Given the description of an element on the screen output the (x, y) to click on. 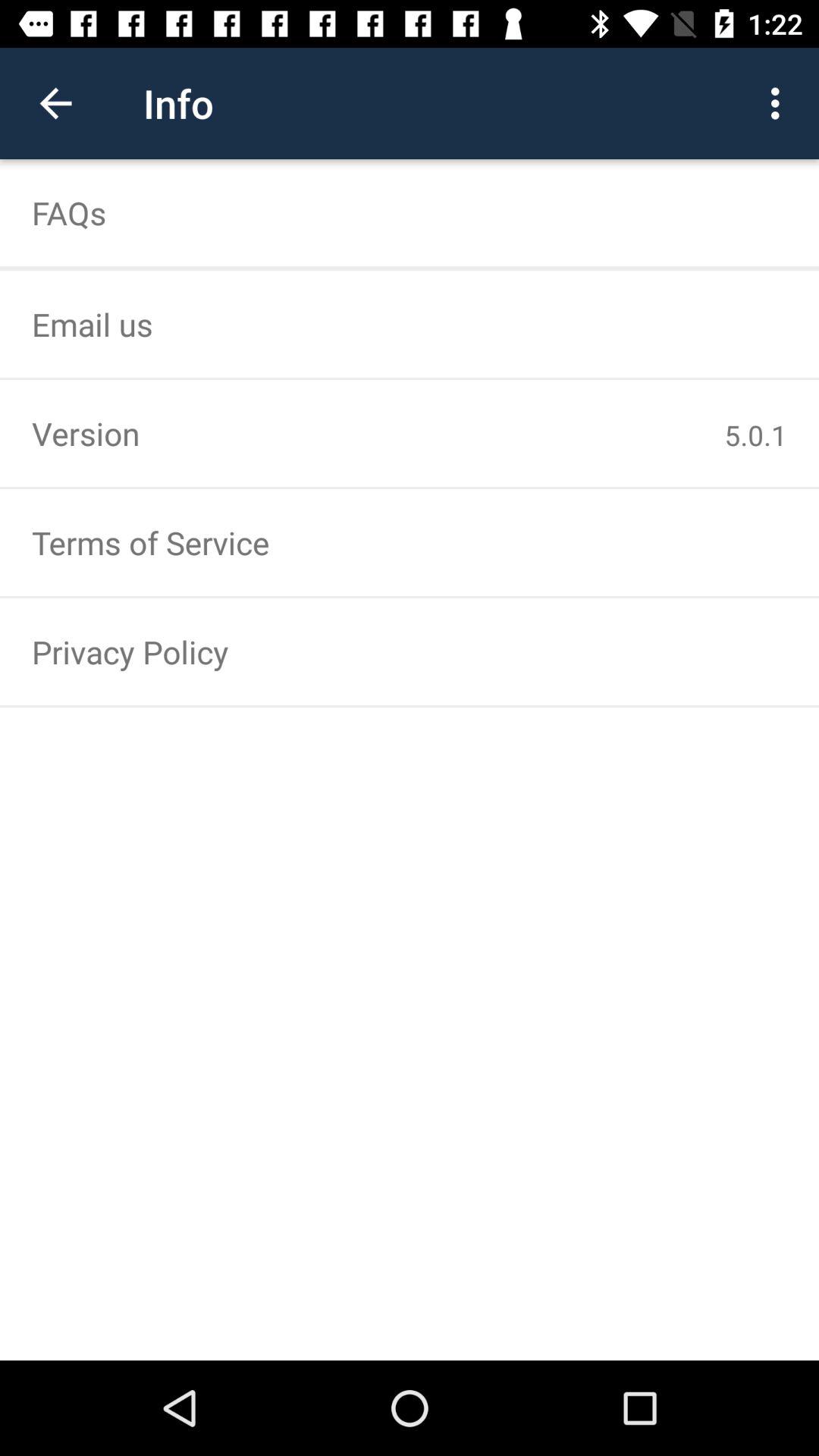
flip until privacy policy item (409, 651)
